Given the description of an element on the screen output the (x, y) to click on. 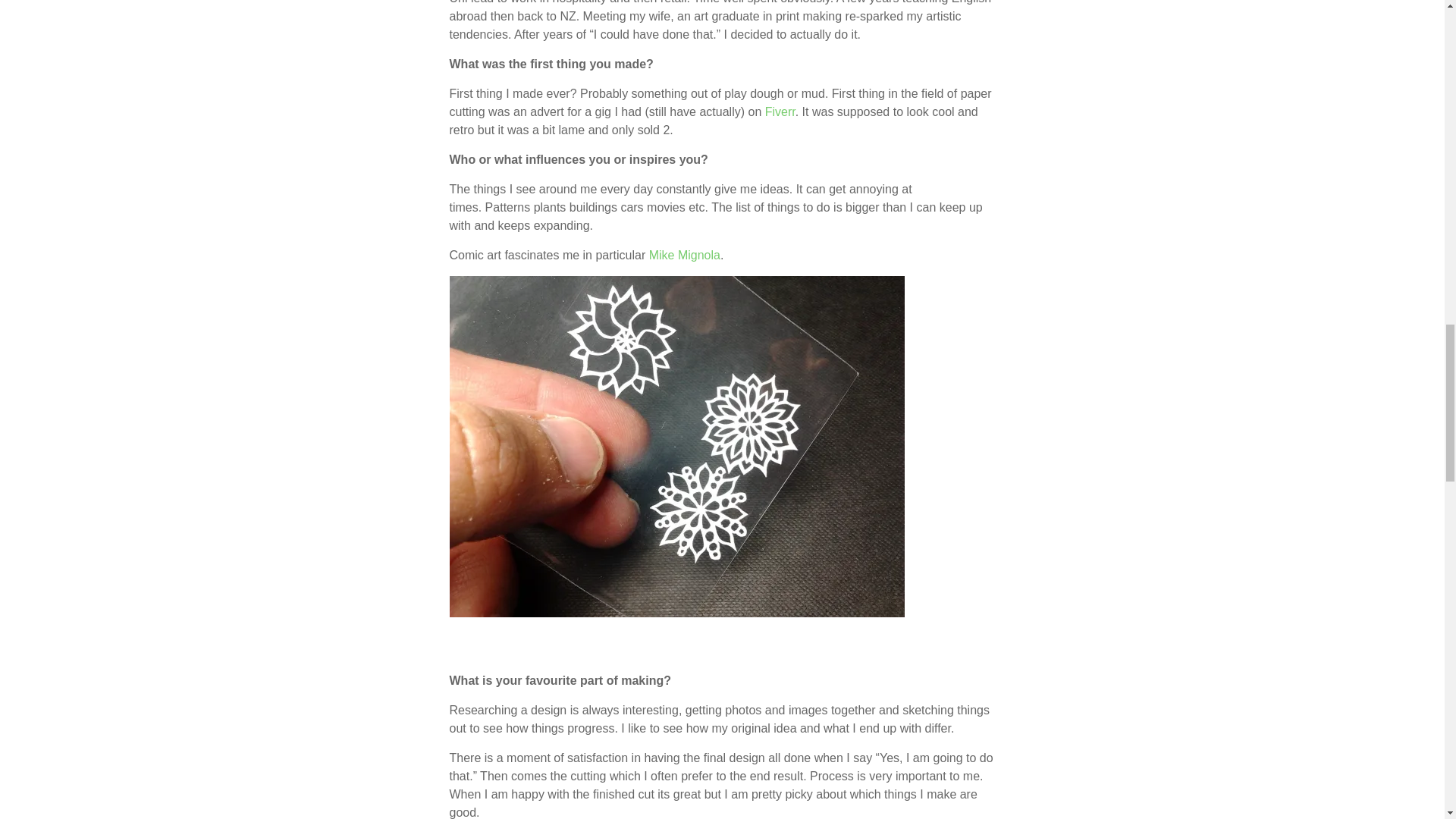
Fiverr (779, 111)
Mike Mignola (684, 254)
Fiverr (779, 111)
Mike Mignola (684, 254)
